Given the description of an element on the screen output the (x, y) to click on. 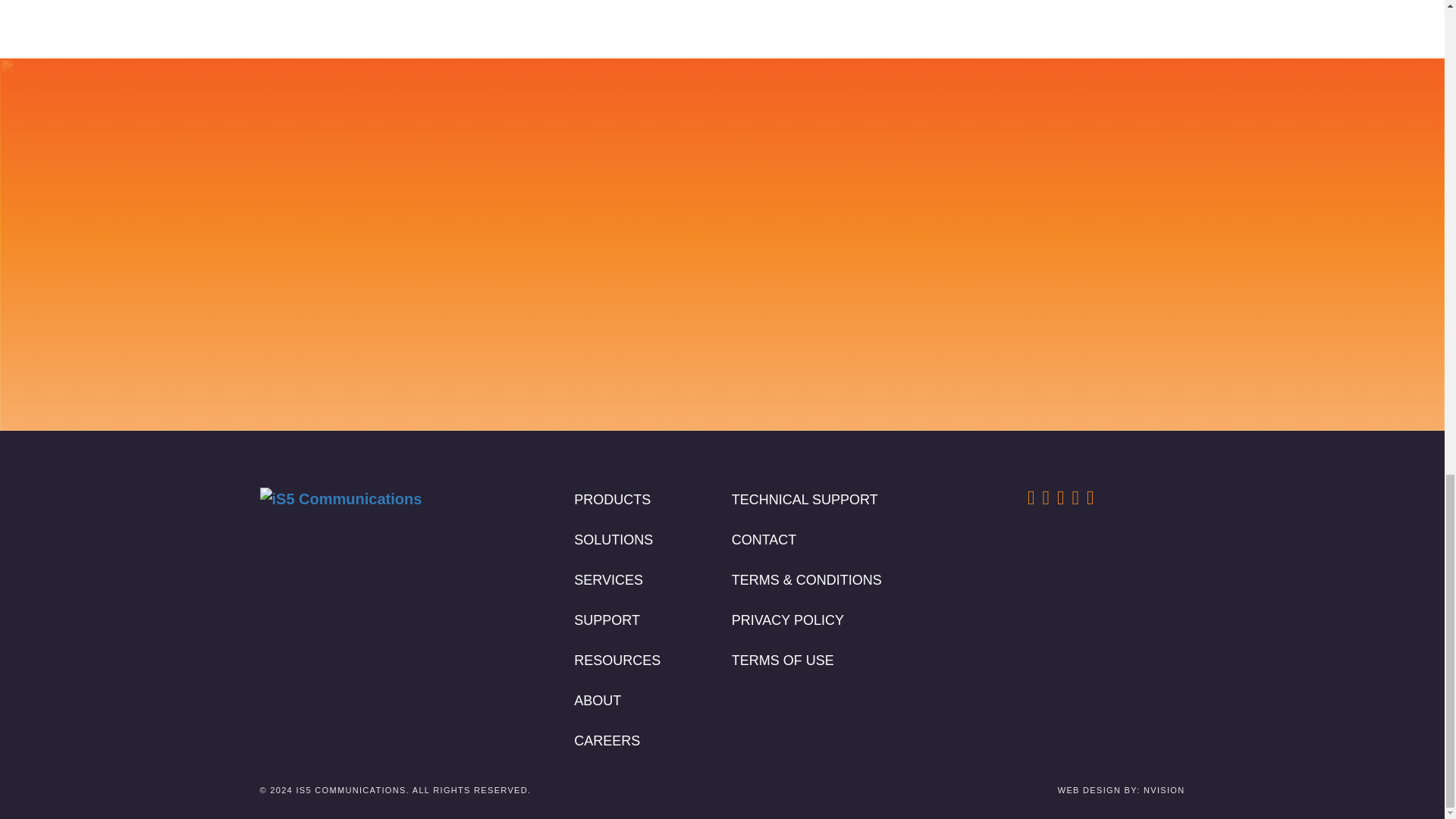
SOLUTIONS (612, 539)
PRODUCTS (611, 499)
